Given the description of an element on the screen output the (x, y) to click on. 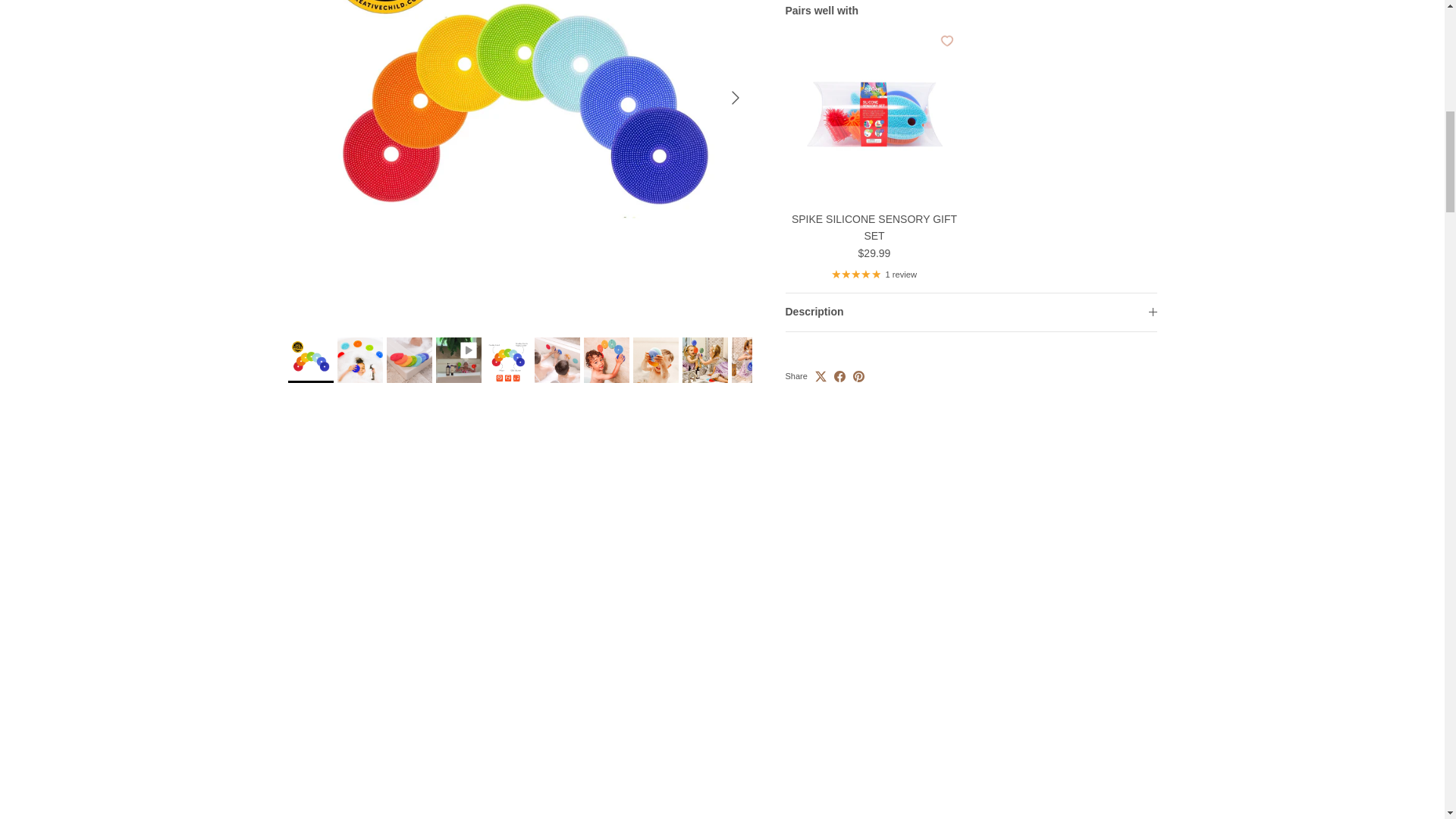
Pin on Pinterest (858, 357)
Share on Facebook (839, 357)
Tweet on X (821, 357)
